Given the description of an element on the screen output the (x, y) to click on. 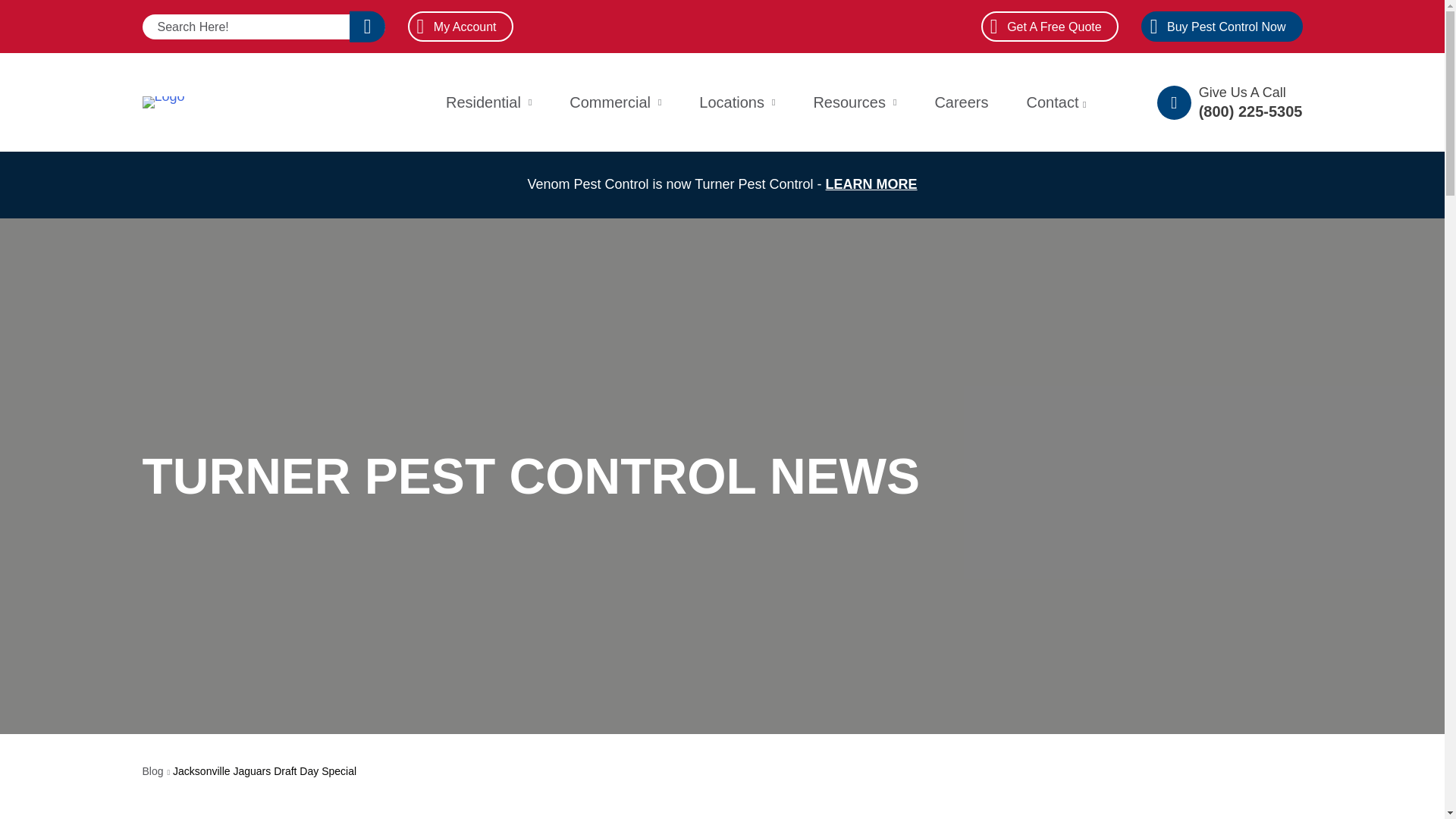
Logo (163, 102)
Commercial (615, 102)
Locations (736, 102)
Click Here (367, 26)
Get A Free Quote (1049, 26)
Buy Pest Control Now (1222, 26)
Residential (488, 102)
My Account (460, 26)
